Given the description of an element on the screen output the (x, y) to click on. 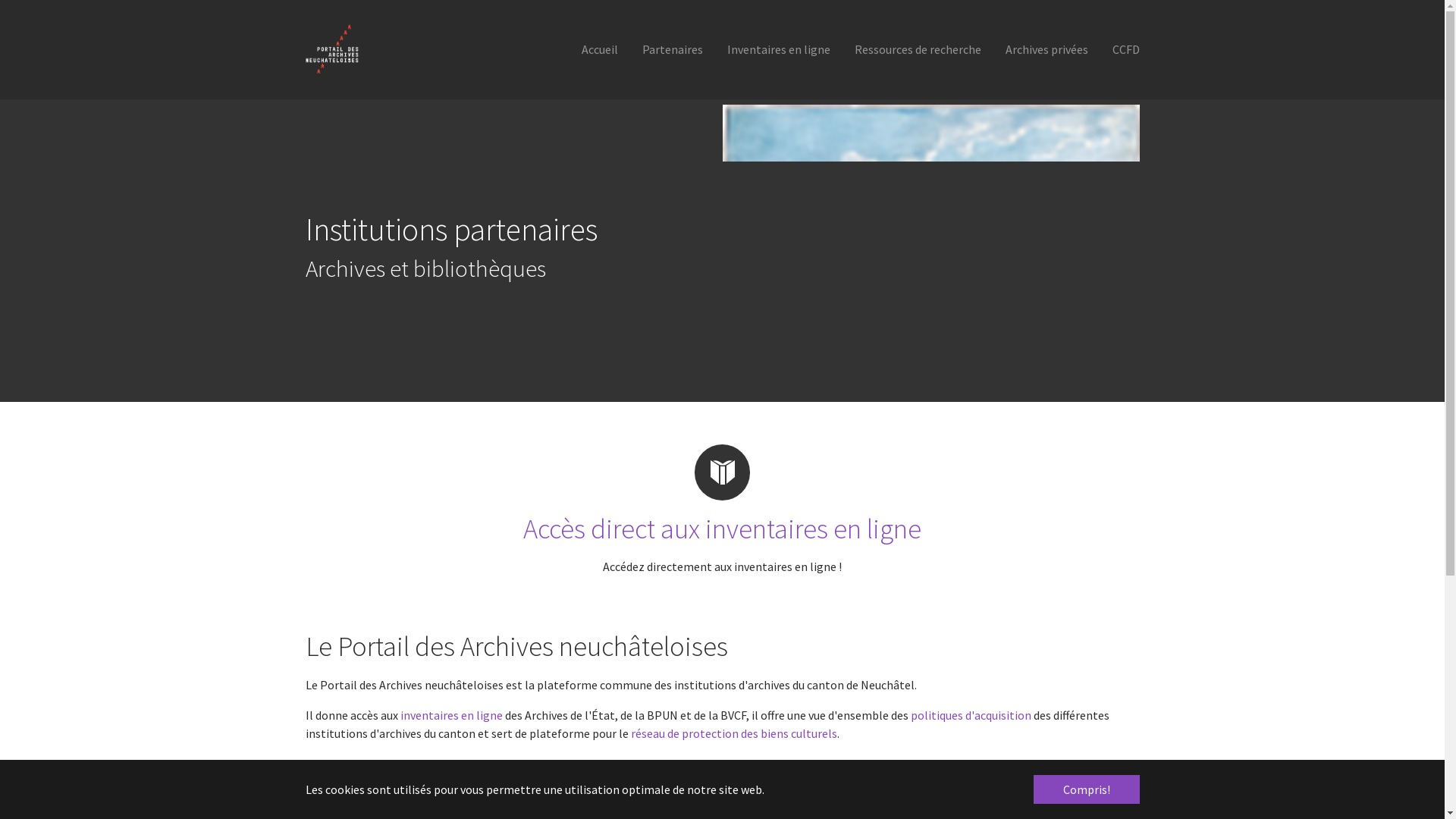
inventaires en ligne Element type: text (451, 714)
Partenaires Element type: text (671, 49)
Ressources de recherche Element type: text (916, 49)
CCFD Element type: text (1125, 49)
Accueil Element type: text (598, 49)
Compris! Element type: text (1085, 789)
Inventaires en ligne Element type: text (777, 49)
politiques d'acquisition Element type: text (970, 714)
